Given the description of an element on the screen output the (x, y) to click on. 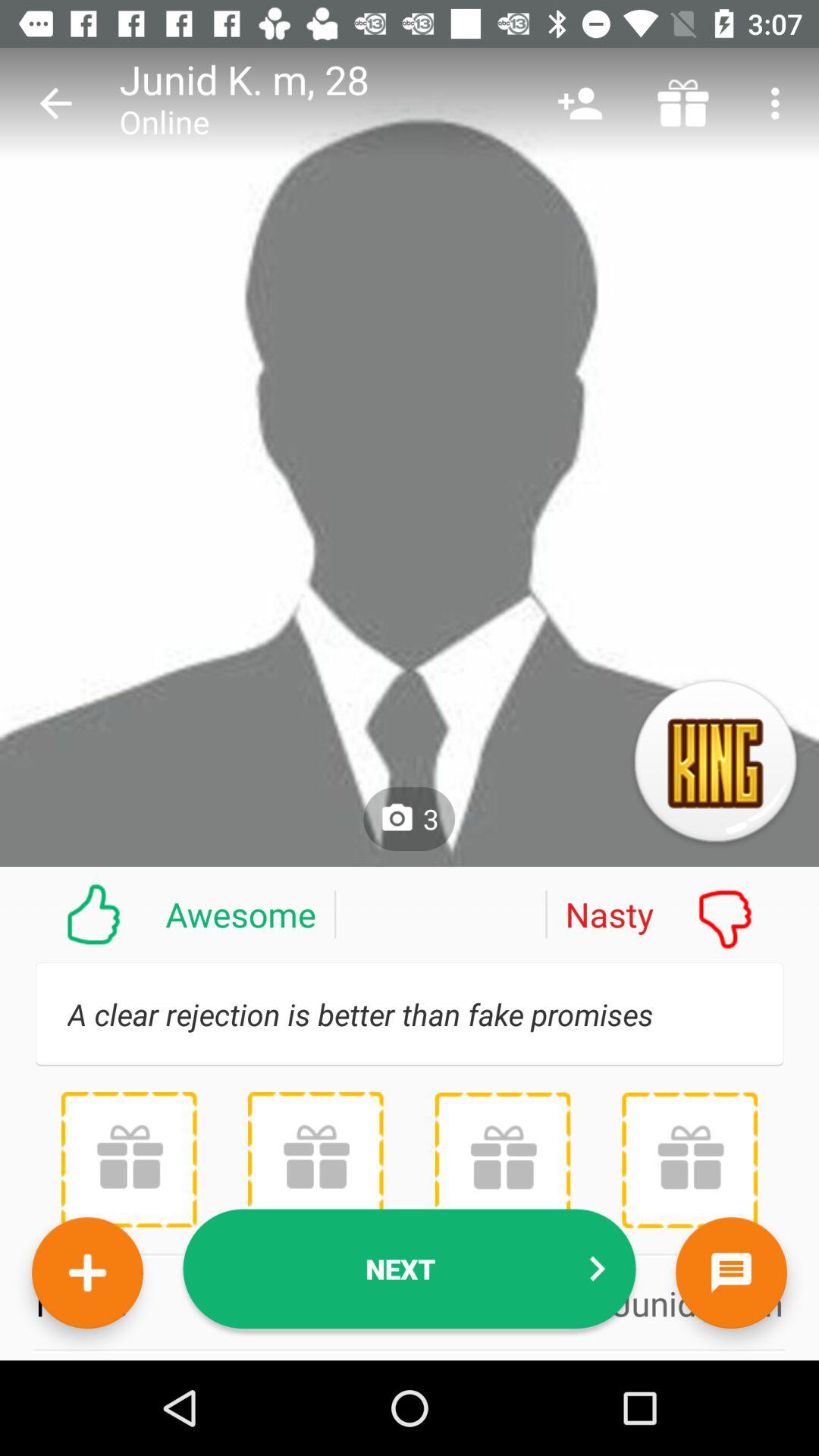
press the item above name (502, 1159)
